Given the description of an element on the screen output the (x, y) to click on. 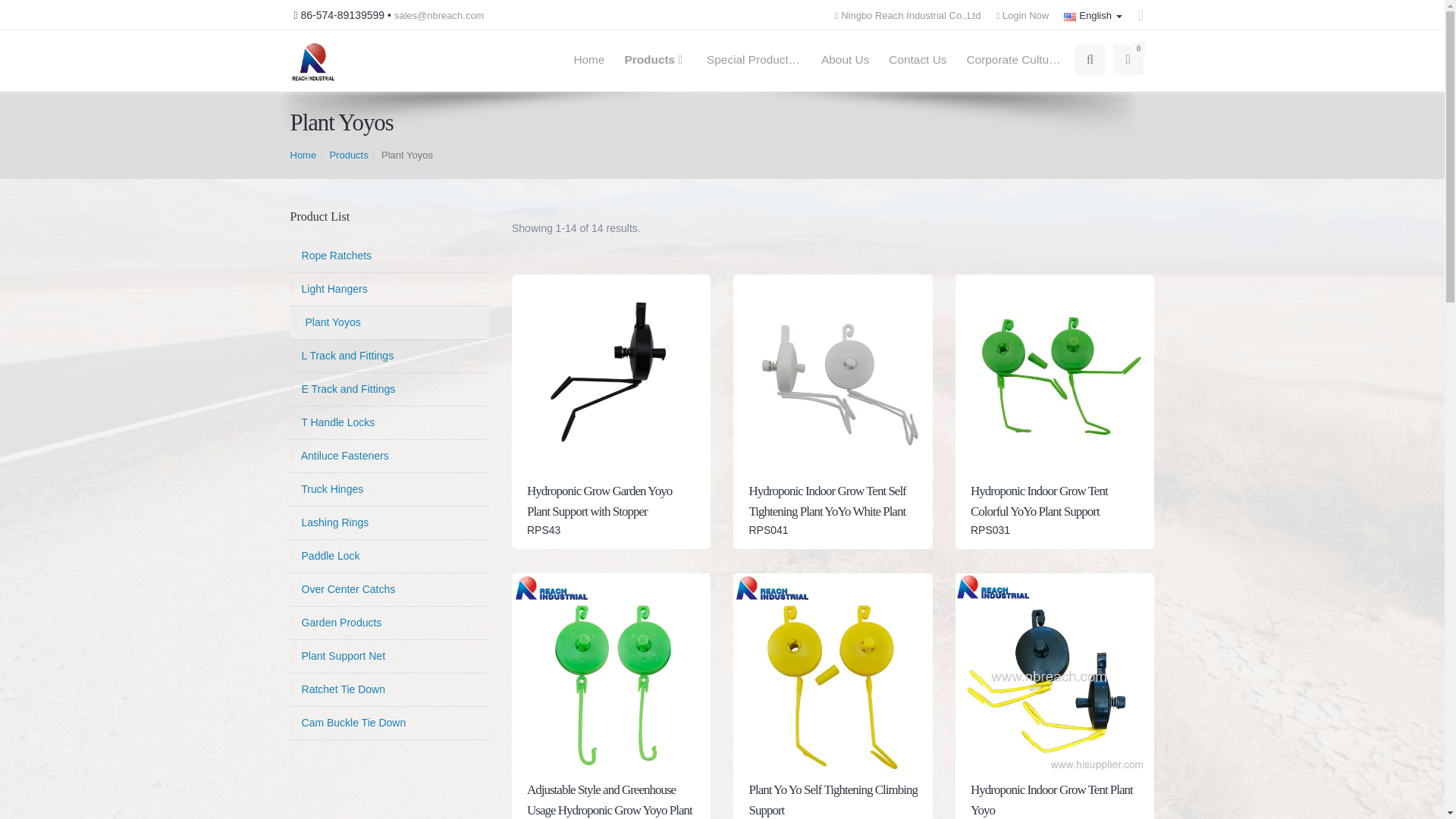
Truck Hinges (389, 489)
Paddle Lock (389, 555)
E Track and Fittings (389, 389)
Home (302, 154)
Special Products (753, 60)
Plant Support Net (389, 655)
Garden Products (389, 622)
Contact Us (917, 60)
L Track and Fittings (389, 355)
Products (655, 60)
Rope Ratchets (389, 255)
China rope ratchet Manufacturer (311, 60)
Corporate Culture (1014, 60)
About Us (844, 60)
Light Hangers (389, 288)
